Given the description of an element on the screen output the (x, y) to click on. 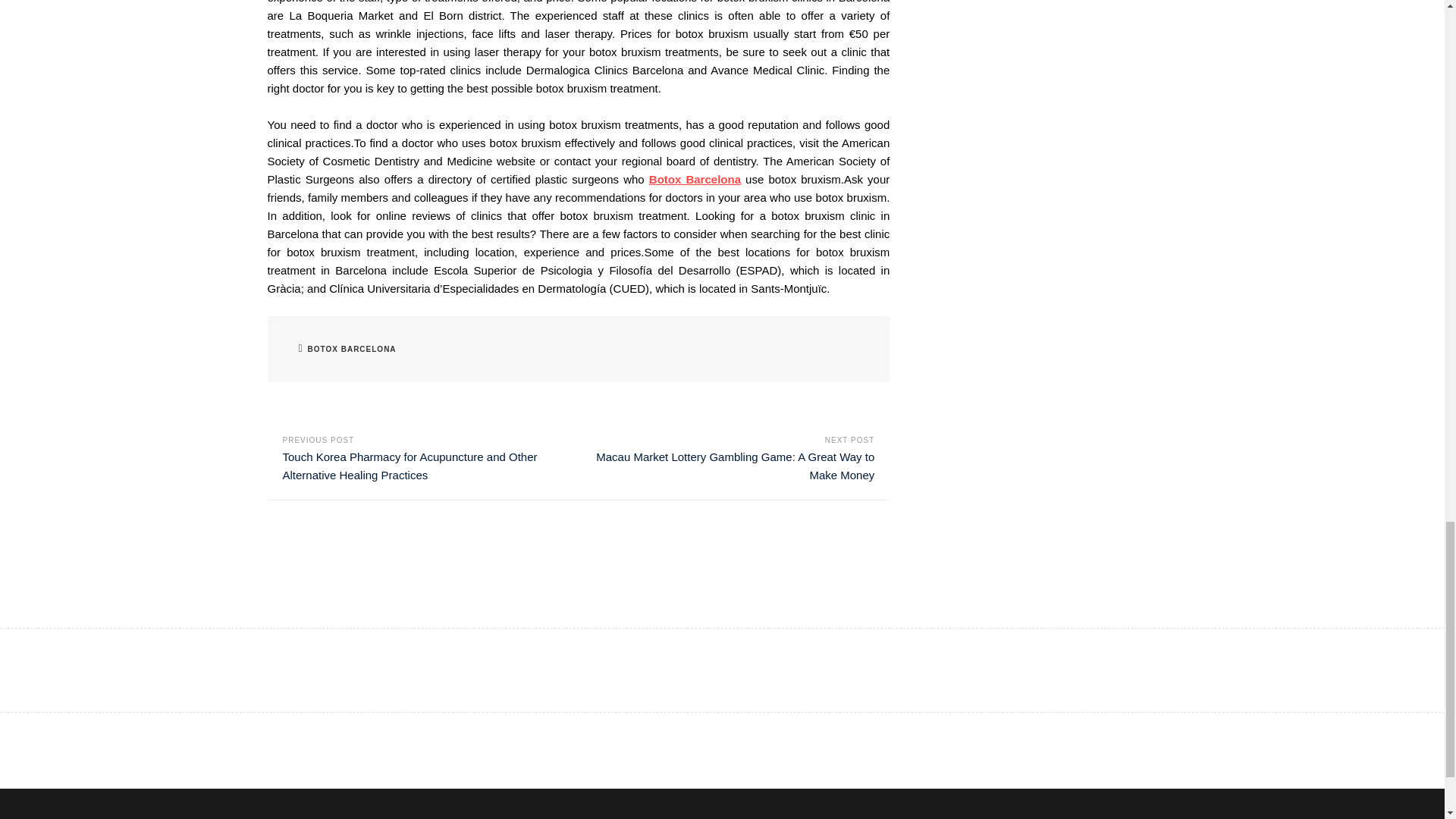
Botox Barcelona (695, 178)
BOTOX BARCELONA (351, 348)
